Given the description of an element on the screen output the (x, y) to click on. 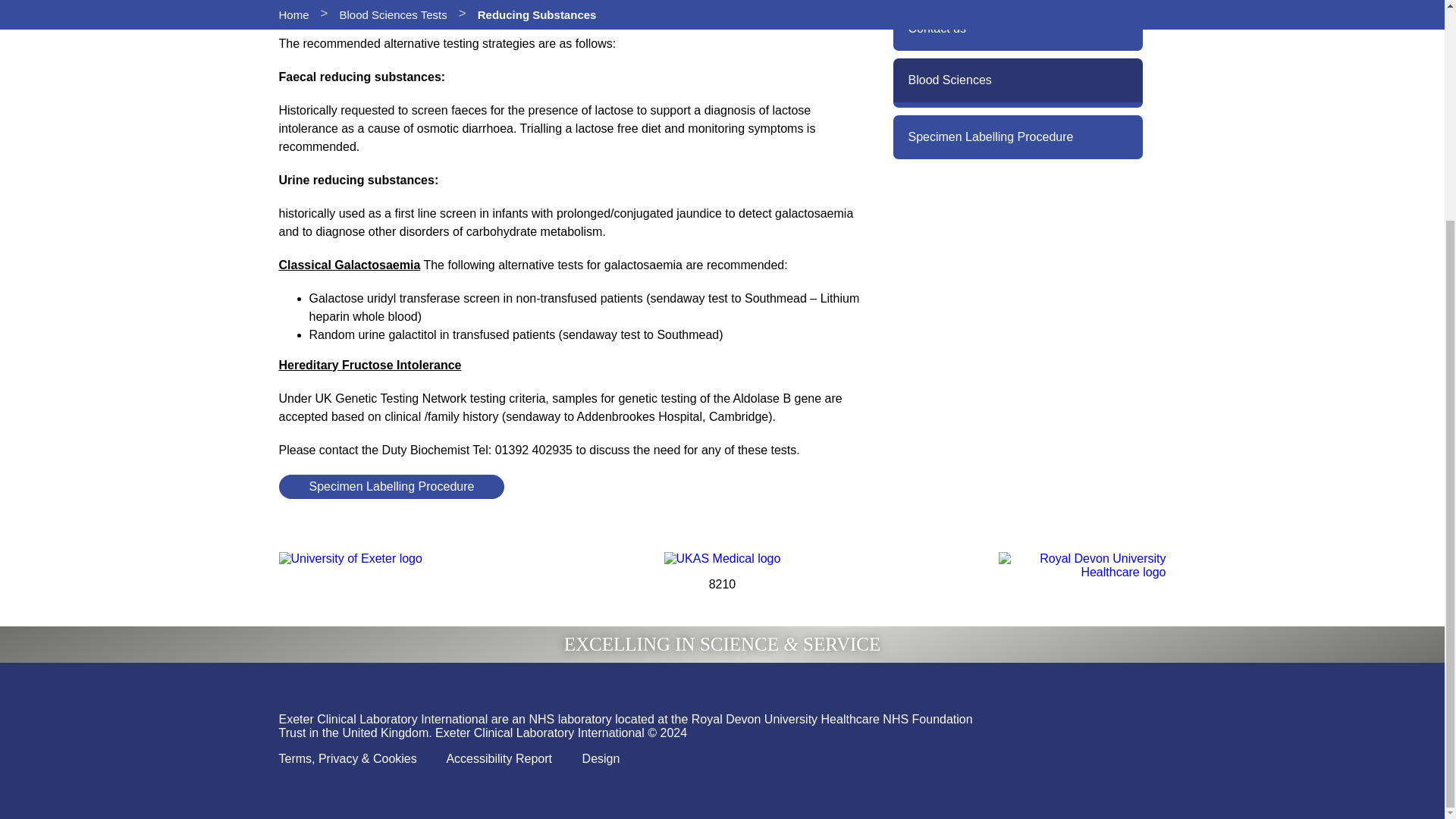
Blood Sciences (1017, 82)
Specimen Labelling Procedure (392, 486)
UKAS Medical logo (721, 558)
University of Exeter Medical School (350, 558)
Royal Devon University Healthcare NHS Foundation Trust (1082, 565)
Contact us (1017, 28)
Limited Edition Design Devon (601, 758)
Specimen Labelling Procedure (1017, 136)
